Given the description of an element on the screen output the (x, y) to click on. 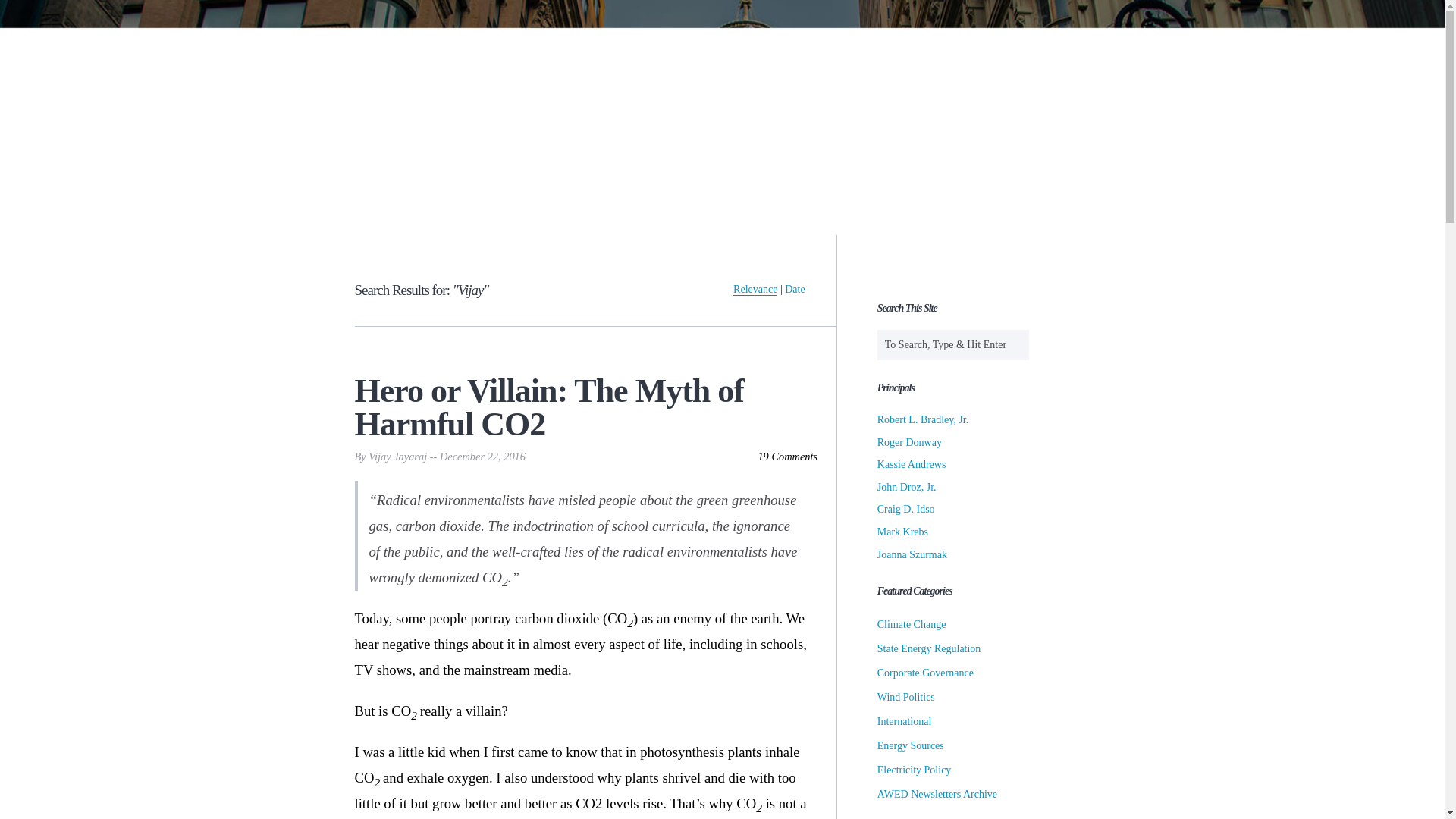
ARCHIVES (954, 212)
Relevance (755, 289)
Date (794, 288)
CATEGORIES (612, 212)
Roger Donway (909, 441)
READING LIST (790, 212)
Kassie Andrews (911, 464)
Hero or Villain: The Myth of Harmful CO2 (586, 407)
Robert L. Bradley, Jr. (922, 419)
ABOUT (471, 212)
